Given the description of an element on the screen output the (x, y) to click on. 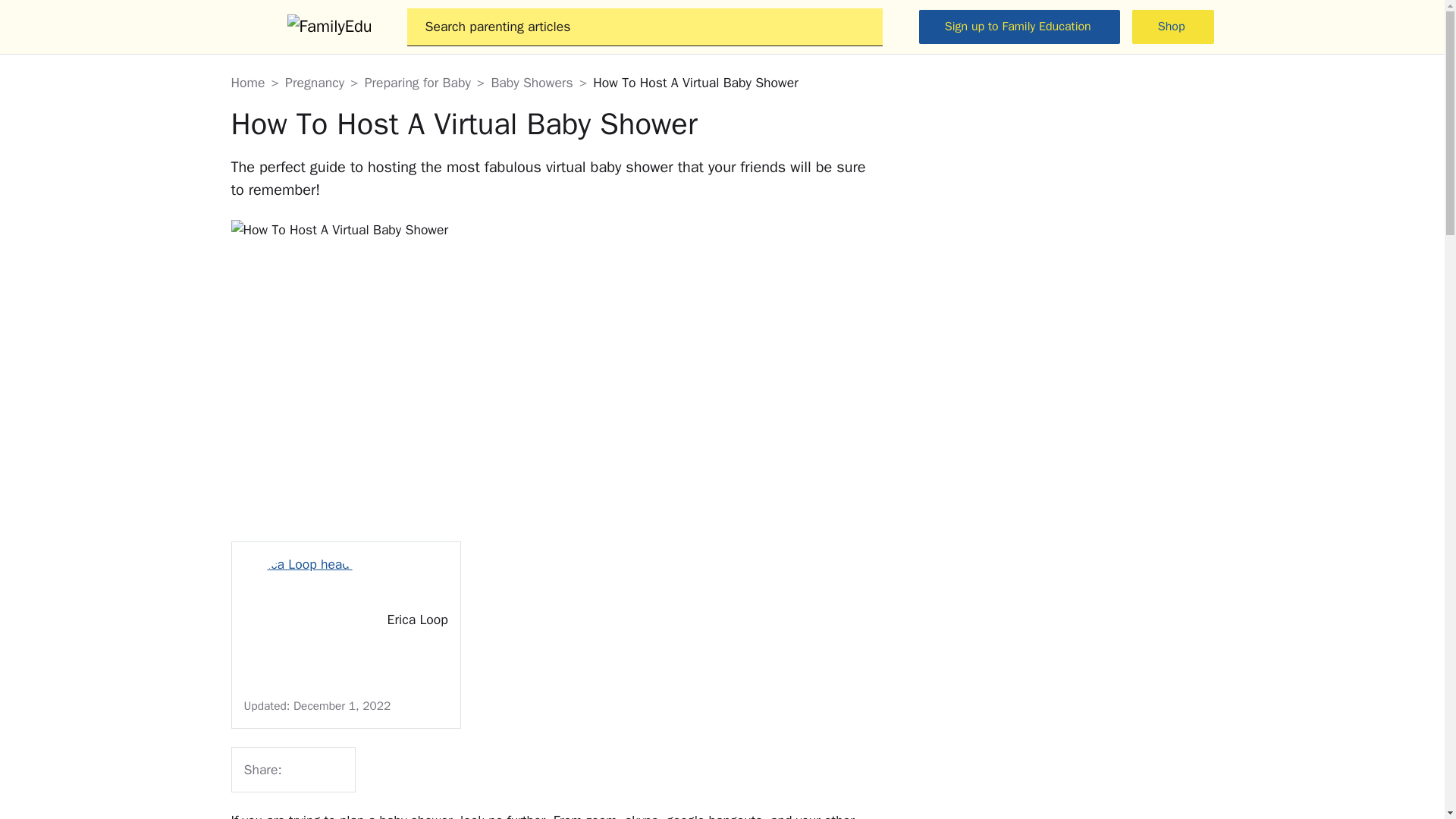
Shop (1173, 27)
Erica Loop headshot (309, 619)
Sign up to Family Education (1018, 27)
